Given the description of an element on the screen output the (x, y) to click on. 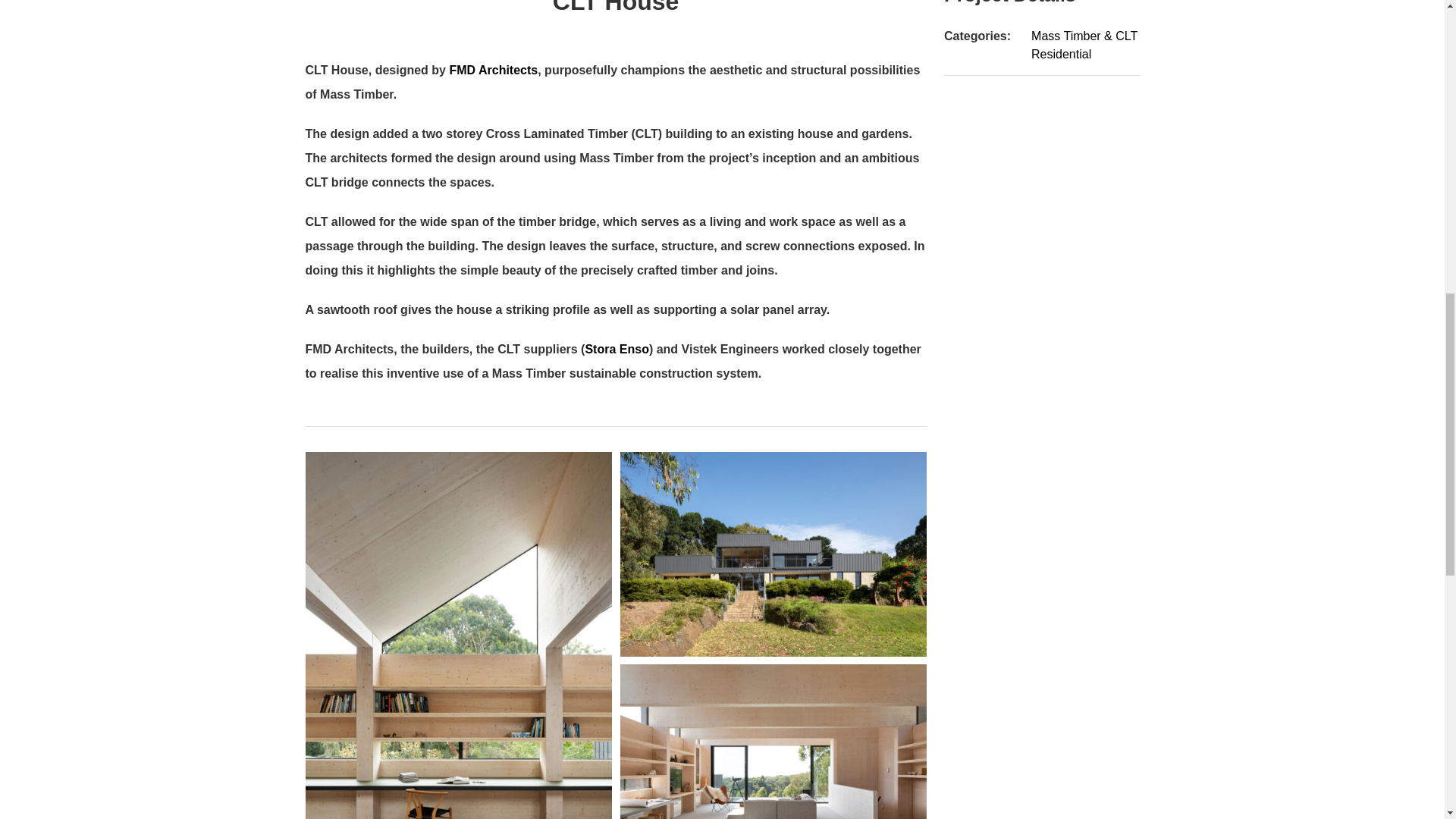
CLT House extension (773, 741)
FMD Architects (492, 69)
CLT House day (773, 554)
Residential (1060, 53)
CLT House (615, 29)
Stora Enso (616, 349)
